Given the description of an element on the screen output the (x, y) to click on. 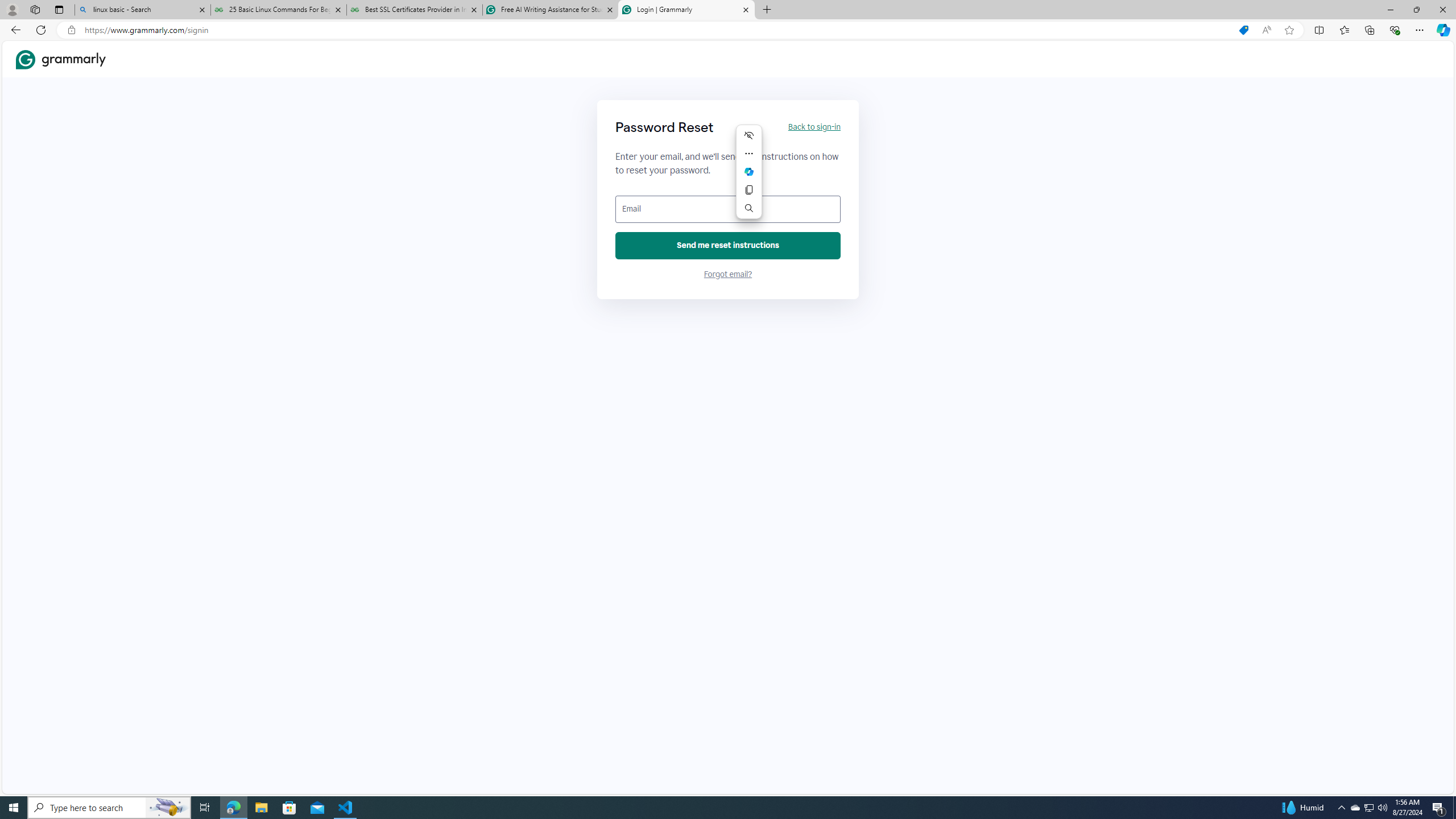
Forgot email? (727, 274)
Mini menu on text selection (748, 171)
